Given the description of an element on the screen output the (x, y) to click on. 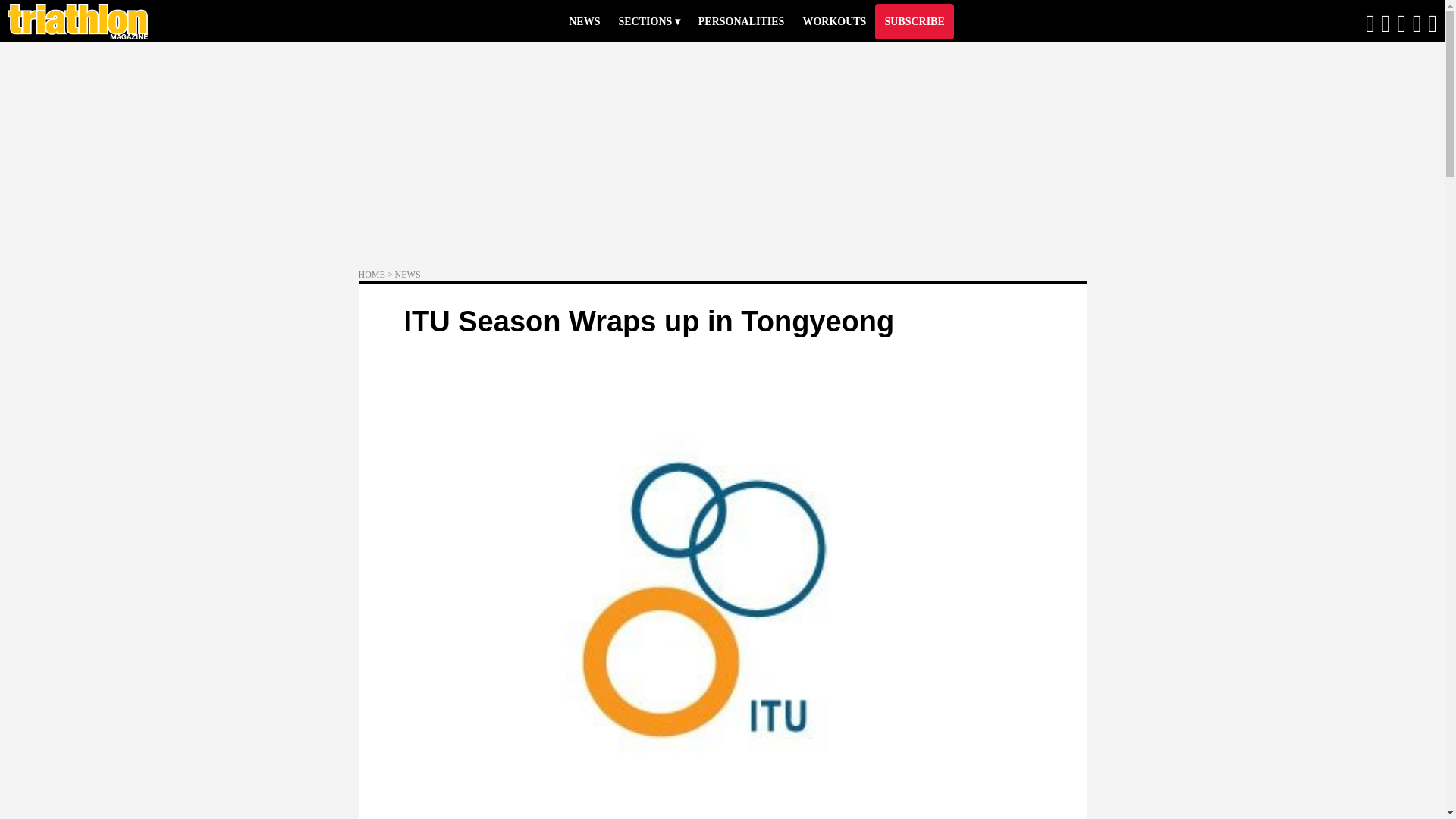
ITU Season Wraps up in Tongyeong (648, 321)
NEWS (583, 20)
PERSONALITIES (740, 20)
SECTIONS (648, 20)
Home (77, 21)
ITU Season Wraps up in Tongyeong (648, 321)
WORKOUTS (834, 20)
SUBSCRIBE (914, 20)
